Given the description of an element on the screen output the (x, y) to click on. 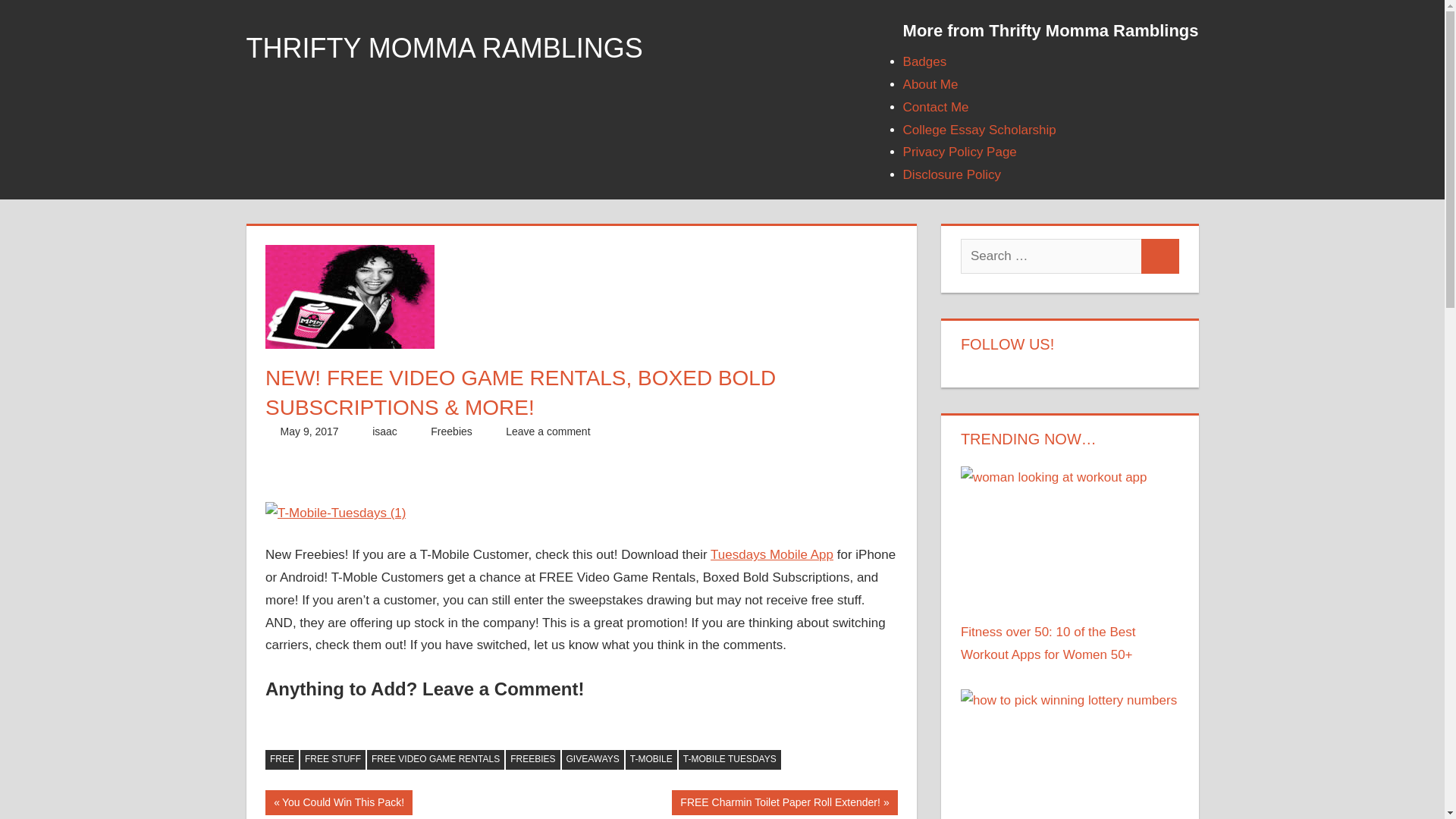
About Me (930, 83)
Search for: (1050, 256)
Privacy Policy Page (959, 151)
Badges (924, 61)
Tuesdays Mobile App (771, 554)
View all posts by isaac (384, 431)
THRIFTY MOMMA RAMBLINGS (444, 47)
10:02 am (338, 802)
Disclosure Policy (310, 431)
isaac (951, 174)
Freebies (384, 431)
College Essay Scholarship (450, 431)
T-MOBILE (979, 129)
FREE (651, 759)
